Given the description of an element on the screen output the (x, y) to click on. 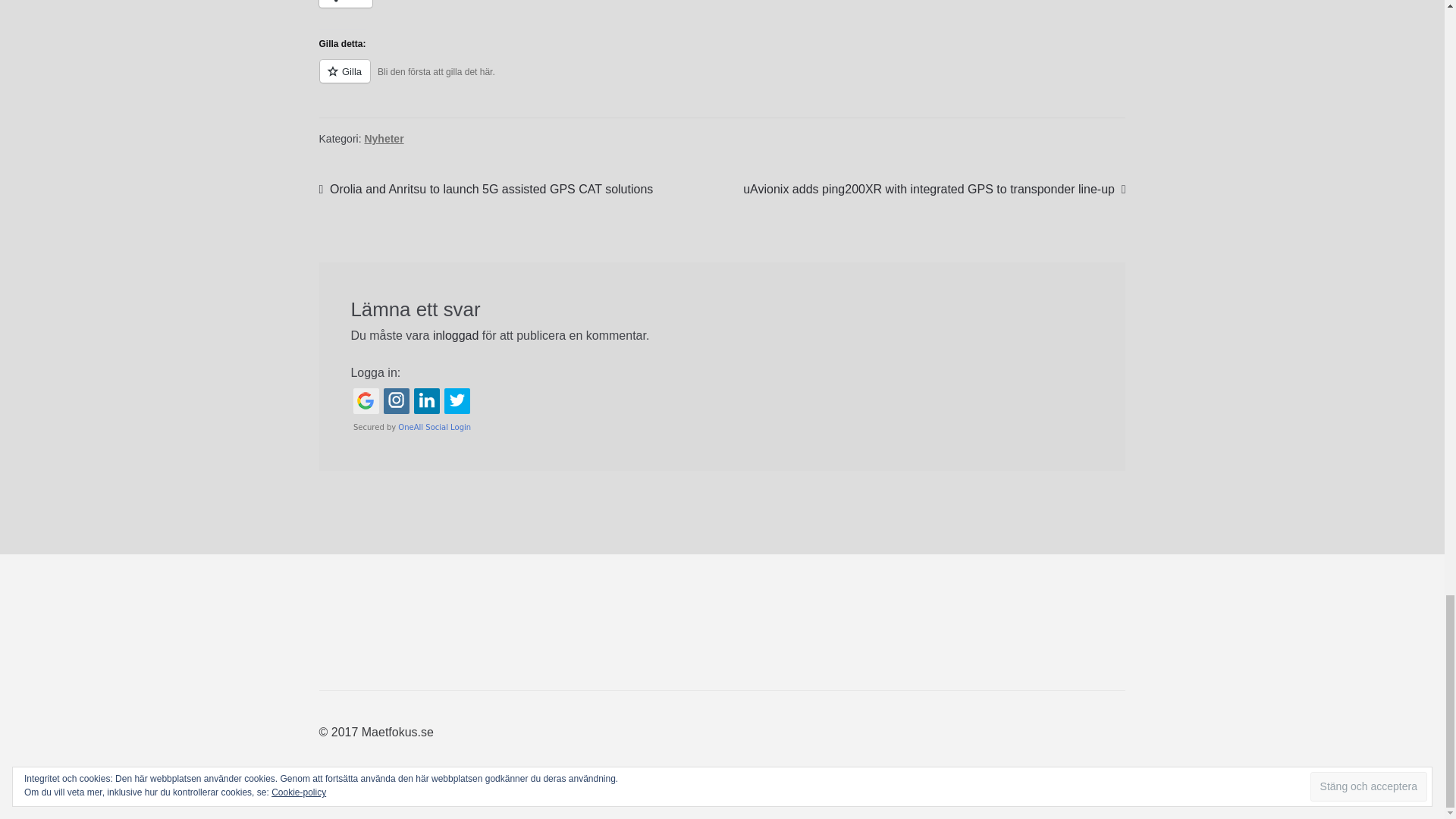
Nyheter (383, 138)
inloggad (455, 335)
Dela (345, 3)
Login with Social Networks (721, 409)
Gilla eller reblogga (721, 79)
